Given the description of an element on the screen output the (x, y) to click on. 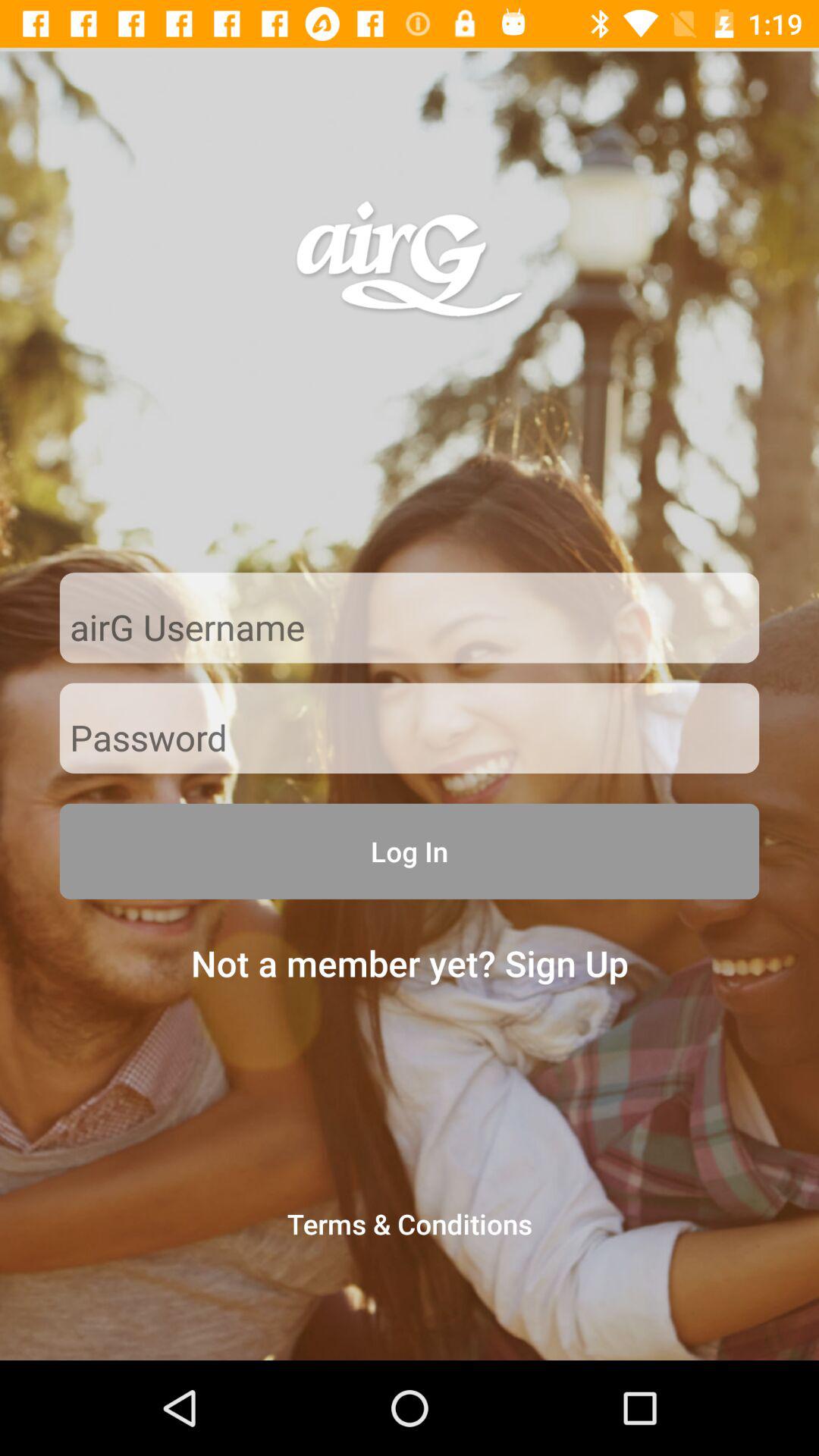
write the username (409, 628)
